Given the description of an element on the screen output the (x, y) to click on. 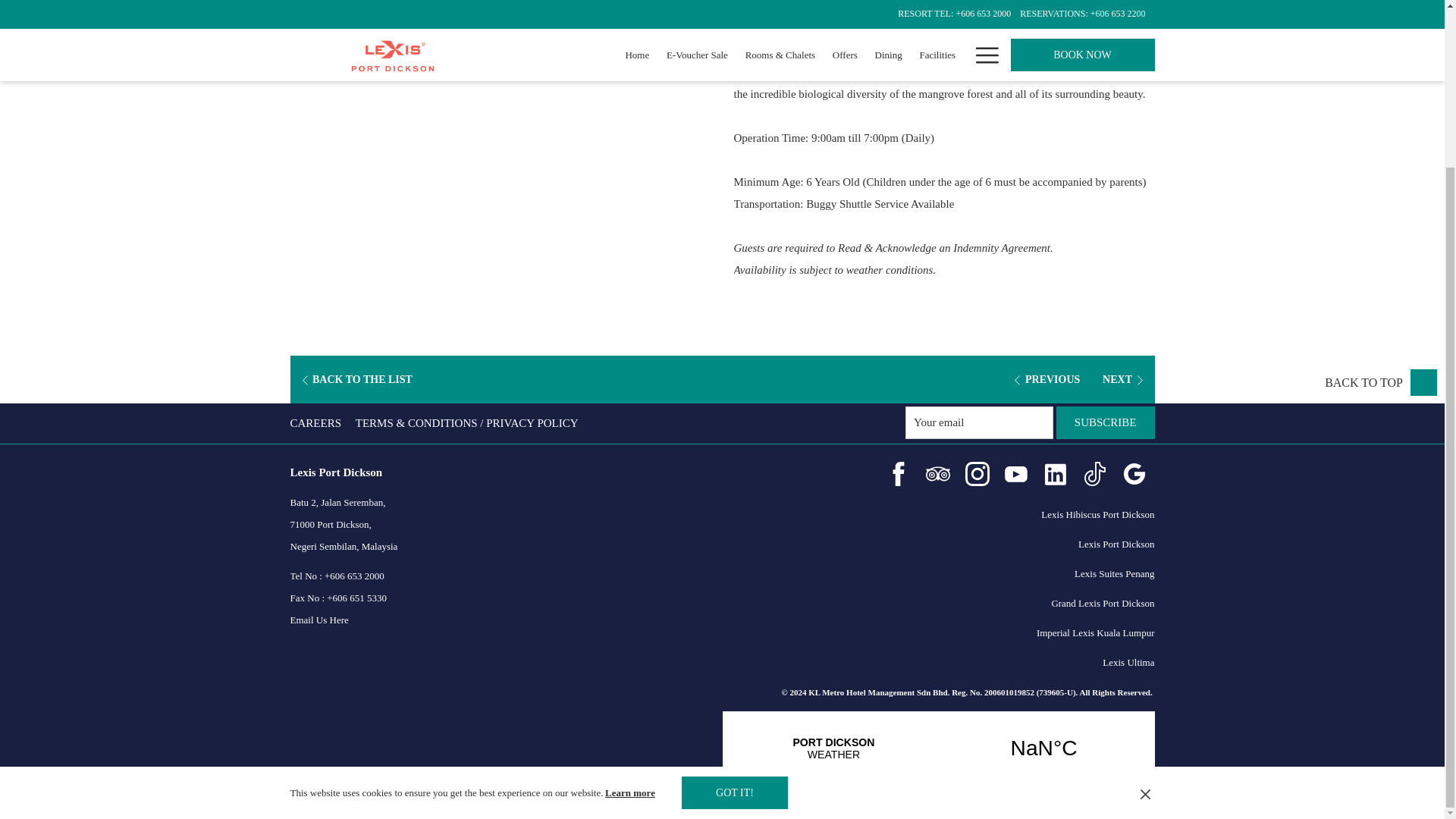
Learn more (631, 592)
GOT IT! (734, 592)
Weather Widget (938, 748)
